Given the description of an element on the screen output the (x, y) to click on. 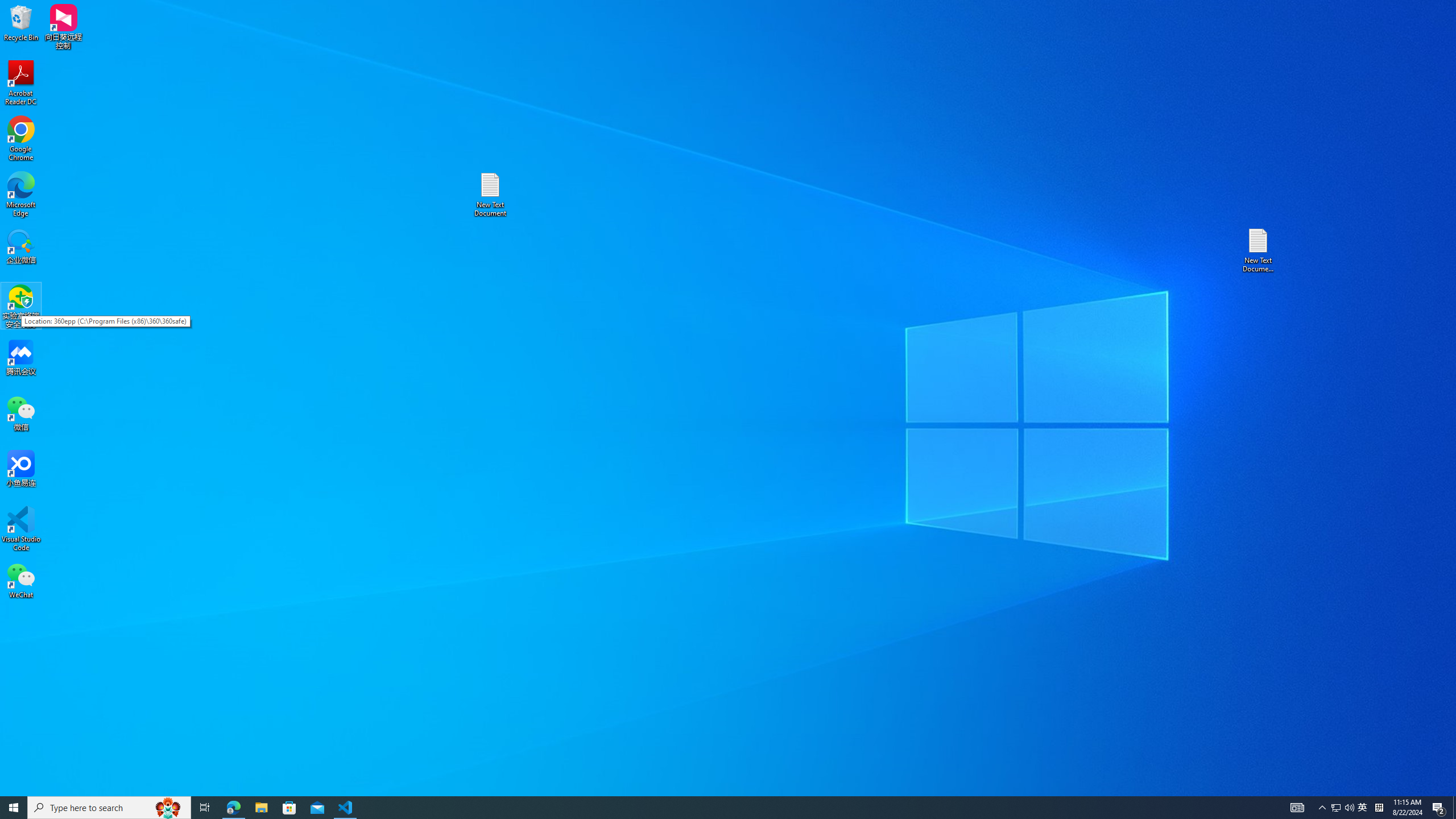
Recycle Bin (21, 22)
Task View (204, 807)
Running applications (1335, 807)
Google Chrome (707, 807)
Show desktop (21, 138)
Microsoft Edge - 1 running window (1454, 807)
Action Center, 2 new notifications (233, 807)
AutomationID: 4105 (1439, 807)
Microsoft Edge (1297, 807)
Visual Studio Code - 1 running window (21, 194)
